Given the description of an element on the screen output the (x, y) to click on. 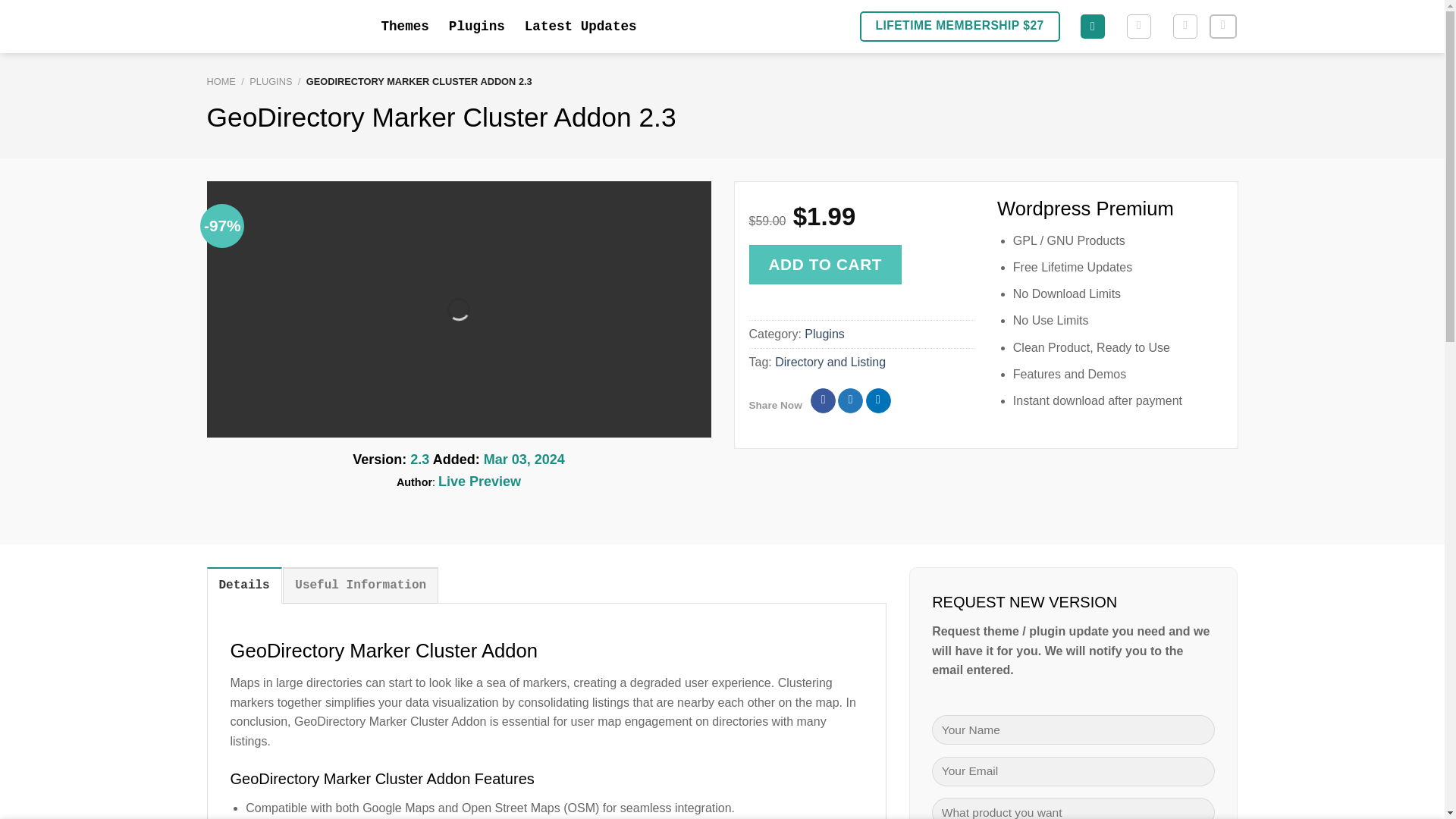
Latest Updates (580, 26)
ADD TO CART (825, 264)
Share on Facebook (822, 401)
Cart (1138, 26)
Follow on Facebook (1222, 26)
Directory and Listing (829, 361)
Details (243, 585)
PLUGINS (270, 81)
Useful Information (360, 585)
Share on LinkedIn (878, 401)
Plugins (476, 26)
Themes (404, 26)
HOME (220, 81)
Live Preview (479, 480)
Share on Twitter (850, 401)
